Given the description of an element on the screen output the (x, y) to click on. 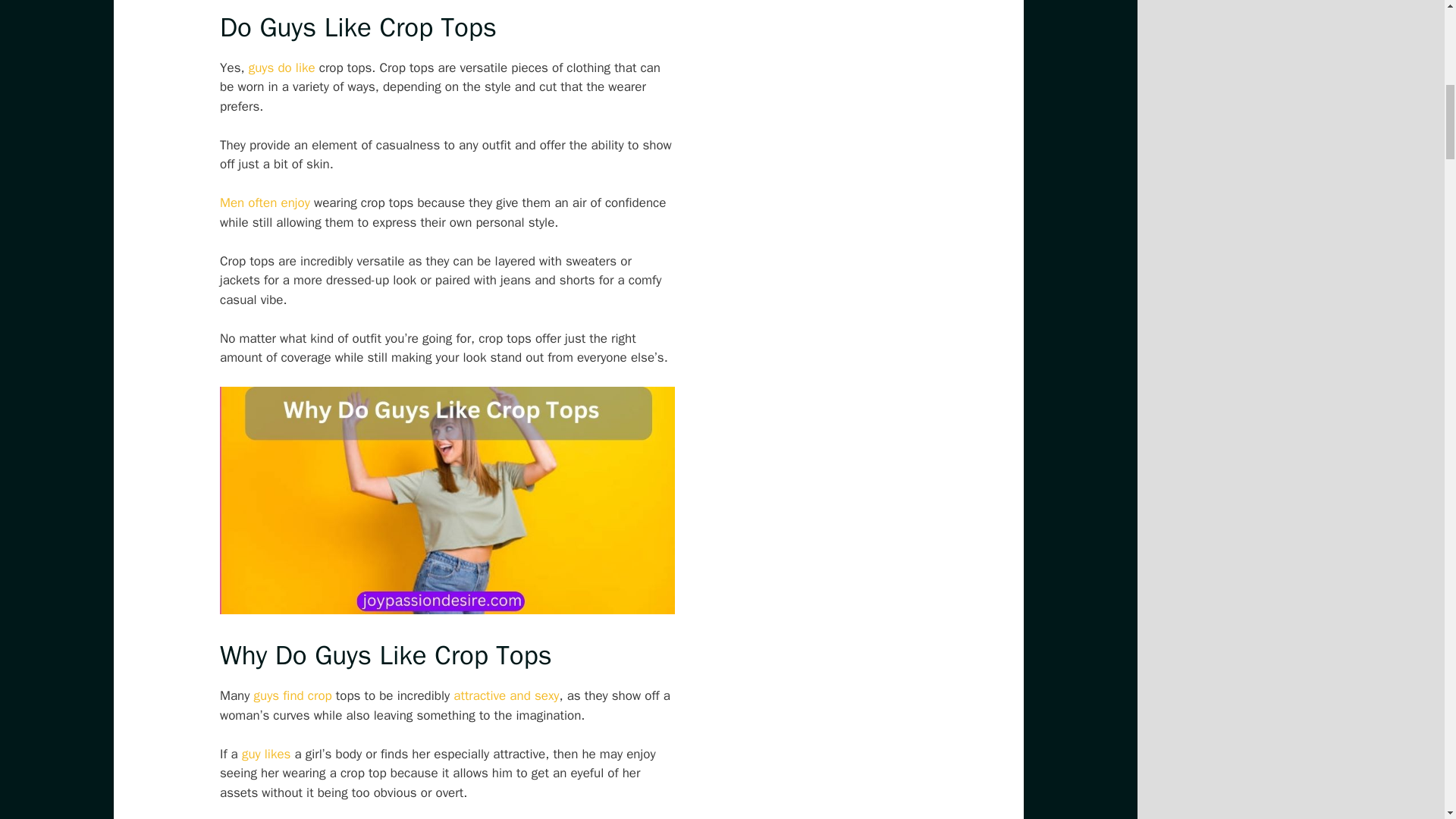
guys do like (281, 66)
guy likes (266, 754)
guys find crop (292, 695)
Men often enjoy (264, 202)
attractive and sexy (505, 695)
